Given the description of an element on the screen output the (x, y) to click on. 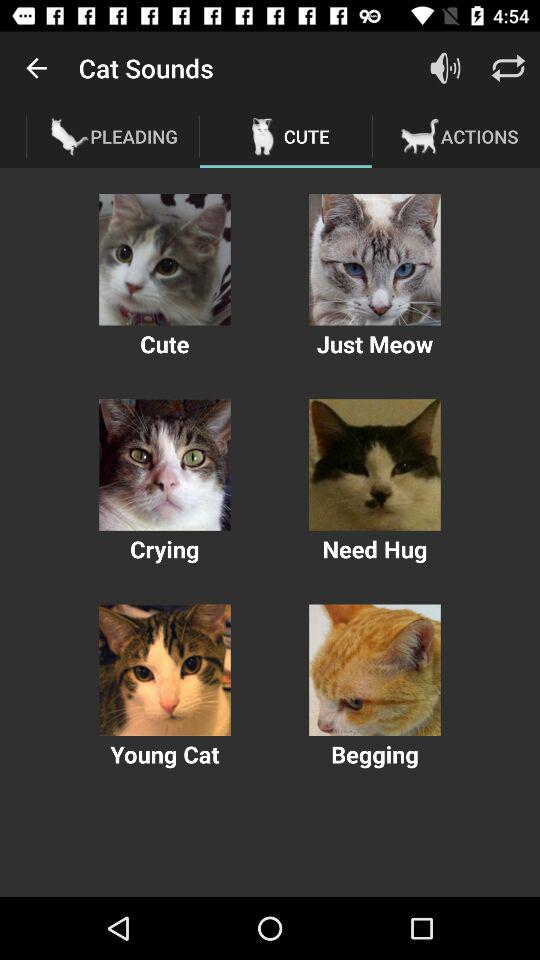
photo of cat with begging caption (374, 669)
